Given the description of an element on the screen output the (x, y) to click on. 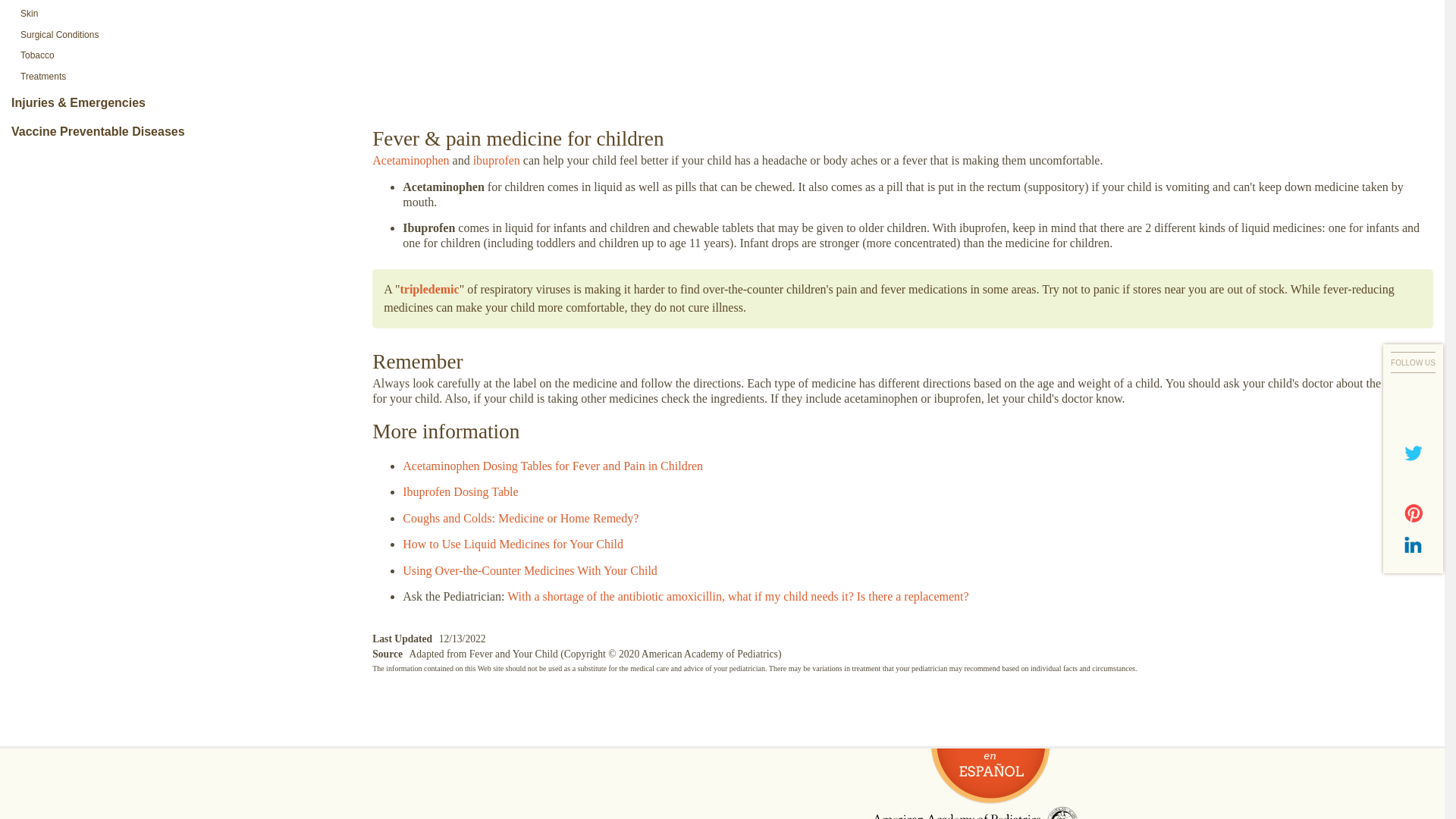
YouTube video player (902, 53)
